Given the description of an element on the screen output the (x, y) to click on. 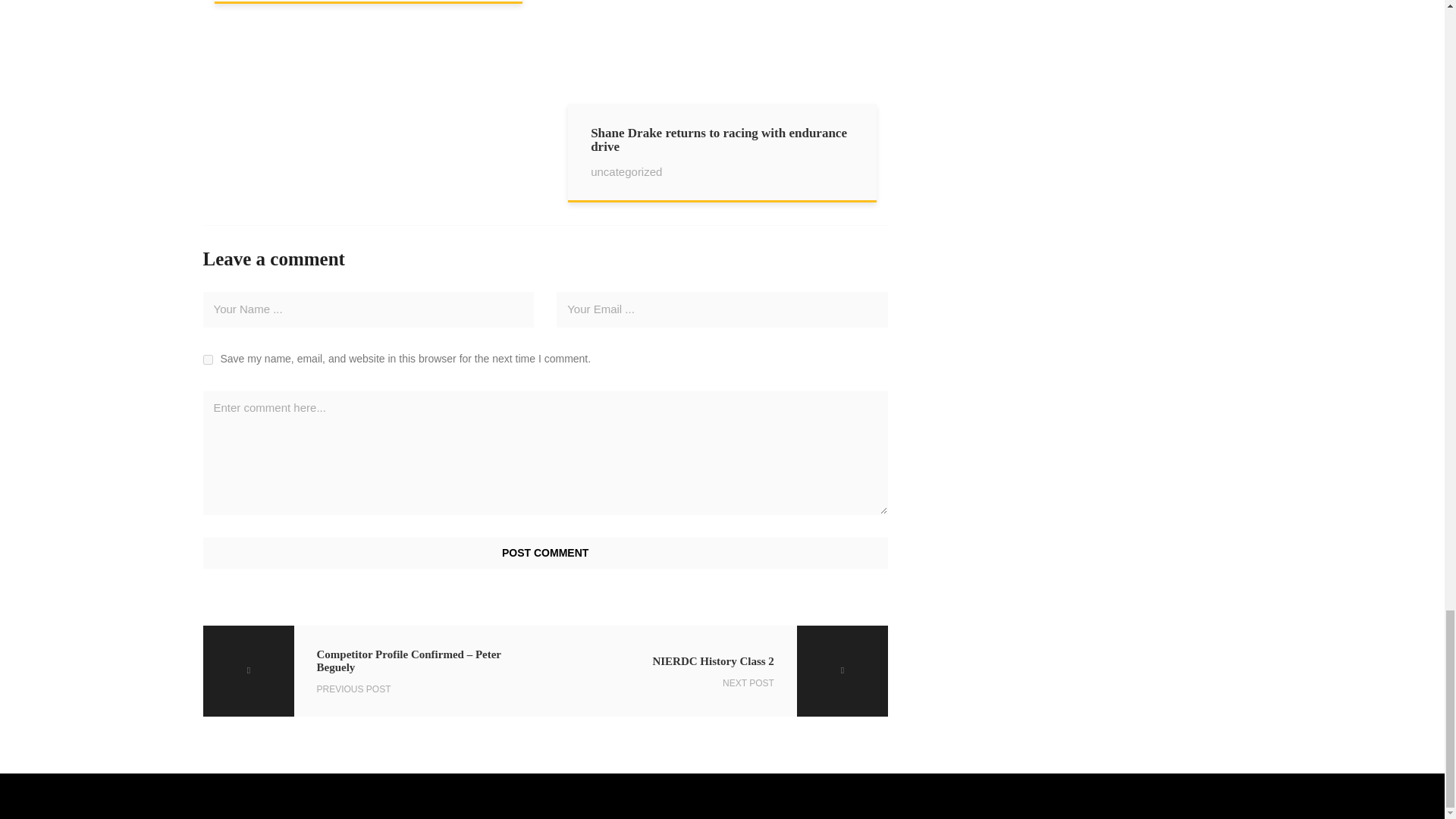
Post Comment (545, 553)
Shane Drake returns to racing with endurance drive (722, 151)
Post Comment (545, 553)
Shane Drake returns to racing with endurance drive (722, 63)
yes (207, 359)
Competitor Profile Confirmed - Peter Beguely (374, 670)
NIERDC History Class 2 (716, 670)
